Given the description of an element on the screen output the (x, y) to click on. 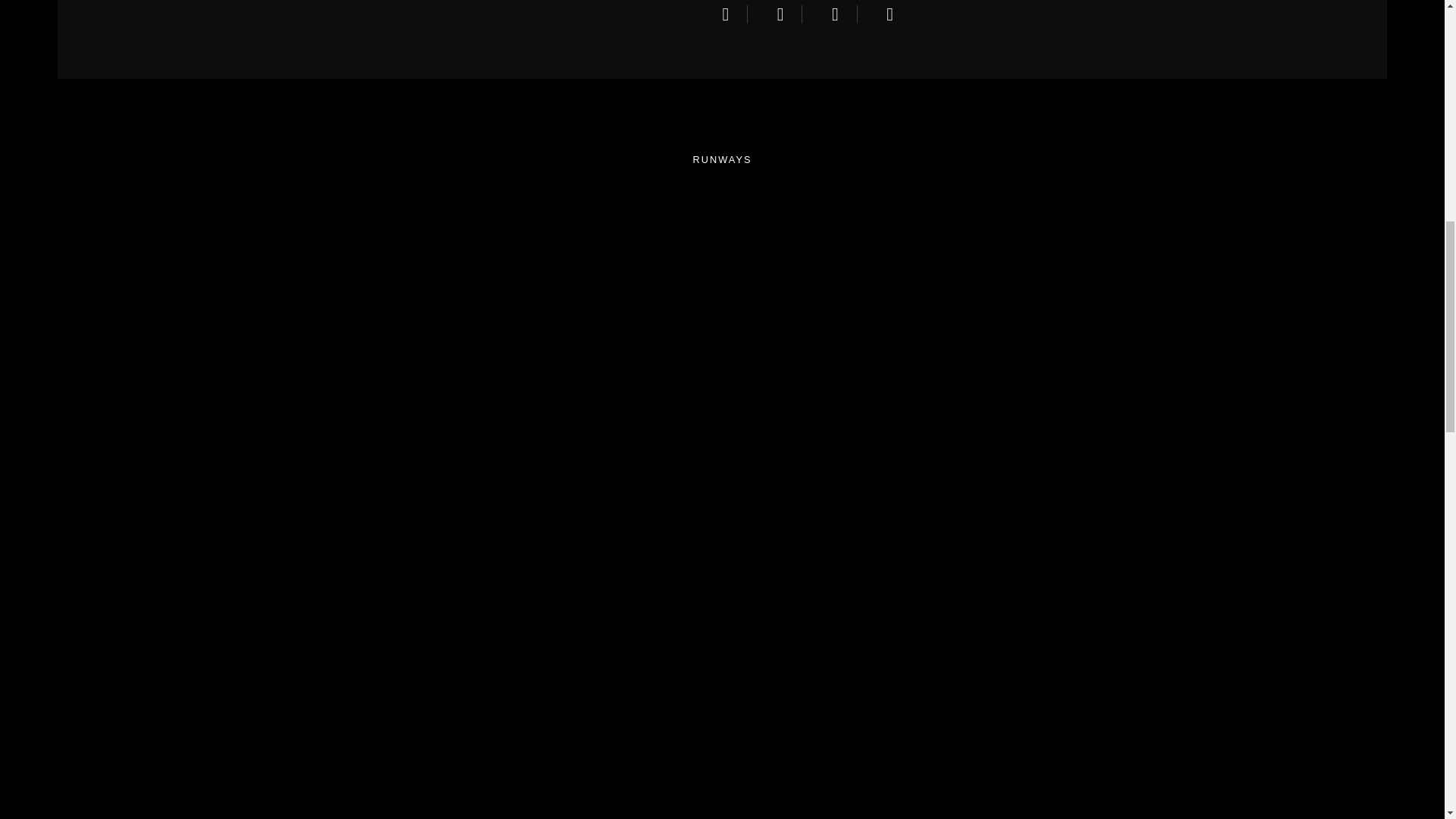
Meena's website (840, 13)
RUNWAYS (722, 159)
Meena on Instagram (786, 13)
Meena's email' (895, 13)
Meena on Facebook (735, 13)
Runways (722, 159)
